Given the description of an element on the screen output the (x, y) to click on. 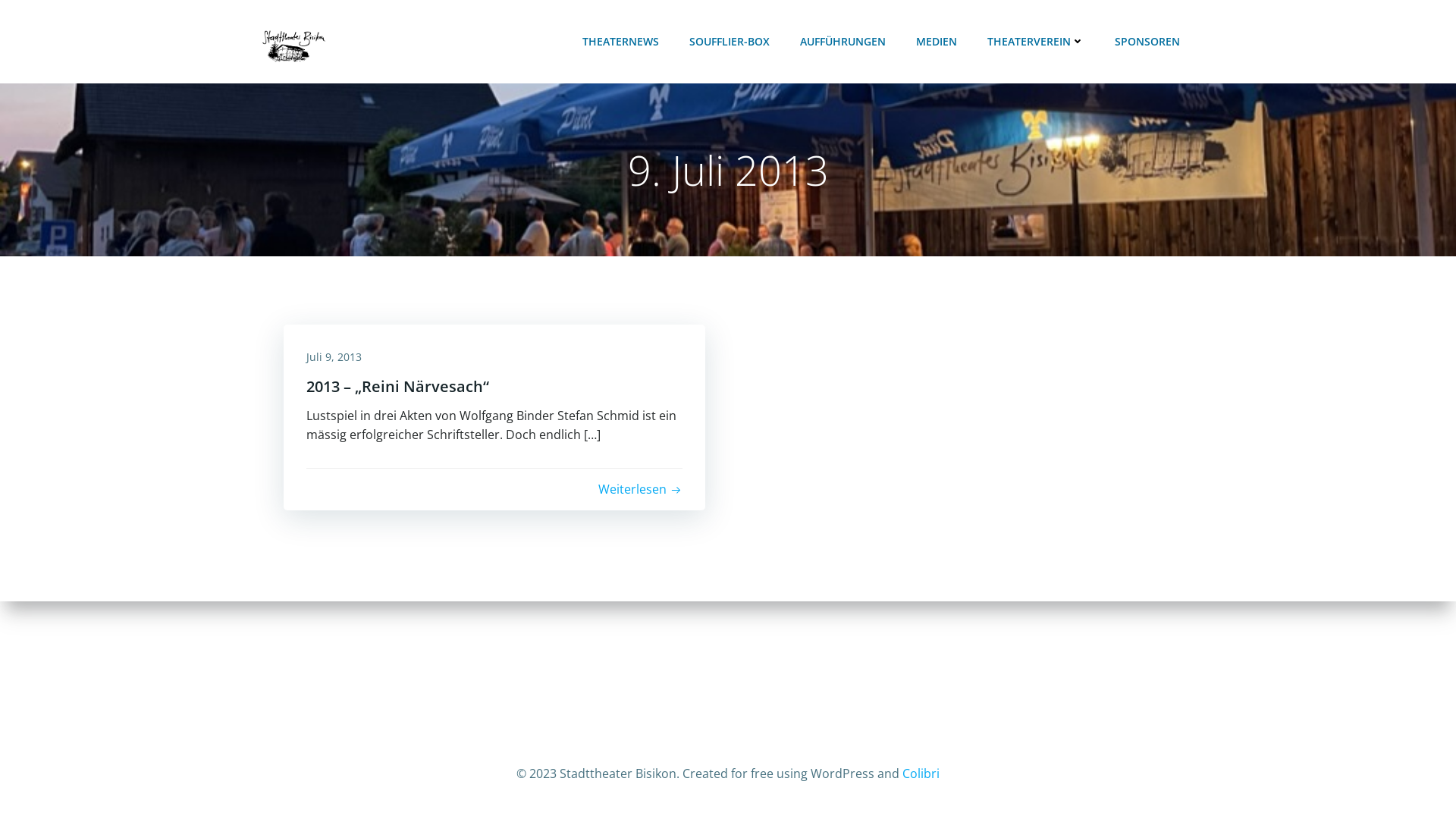
Juli 9, 2013 Element type: text (333, 356)
THEATERNEWS Element type: text (620, 41)
MEDIEN Element type: text (936, 41)
SPONSOREN Element type: text (1146, 41)
THEATERVEREIN Element type: text (1035, 41)
Weiterlesen Element type: text (640, 489)
Colibri Element type: text (920, 773)
SOUFFLIER-BOX Element type: text (729, 41)
